Given the description of an element on the screen output the (x, y) to click on. 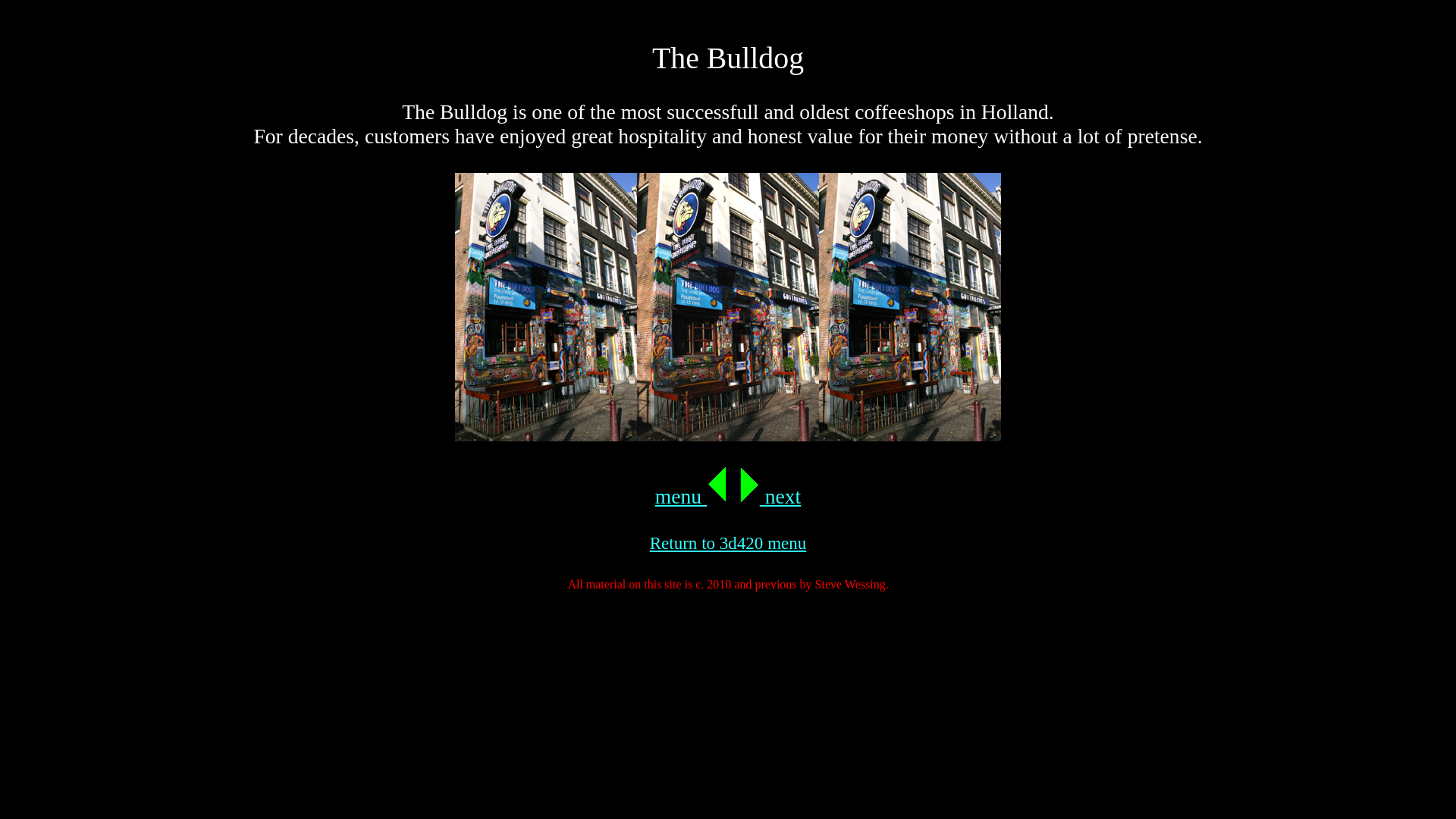
menu Element type: text (691, 496)
next Element type: text (769, 496)
Return to 3d420 menu Element type: text (727, 542)
